Given the description of an element on the screen output the (x, y) to click on. 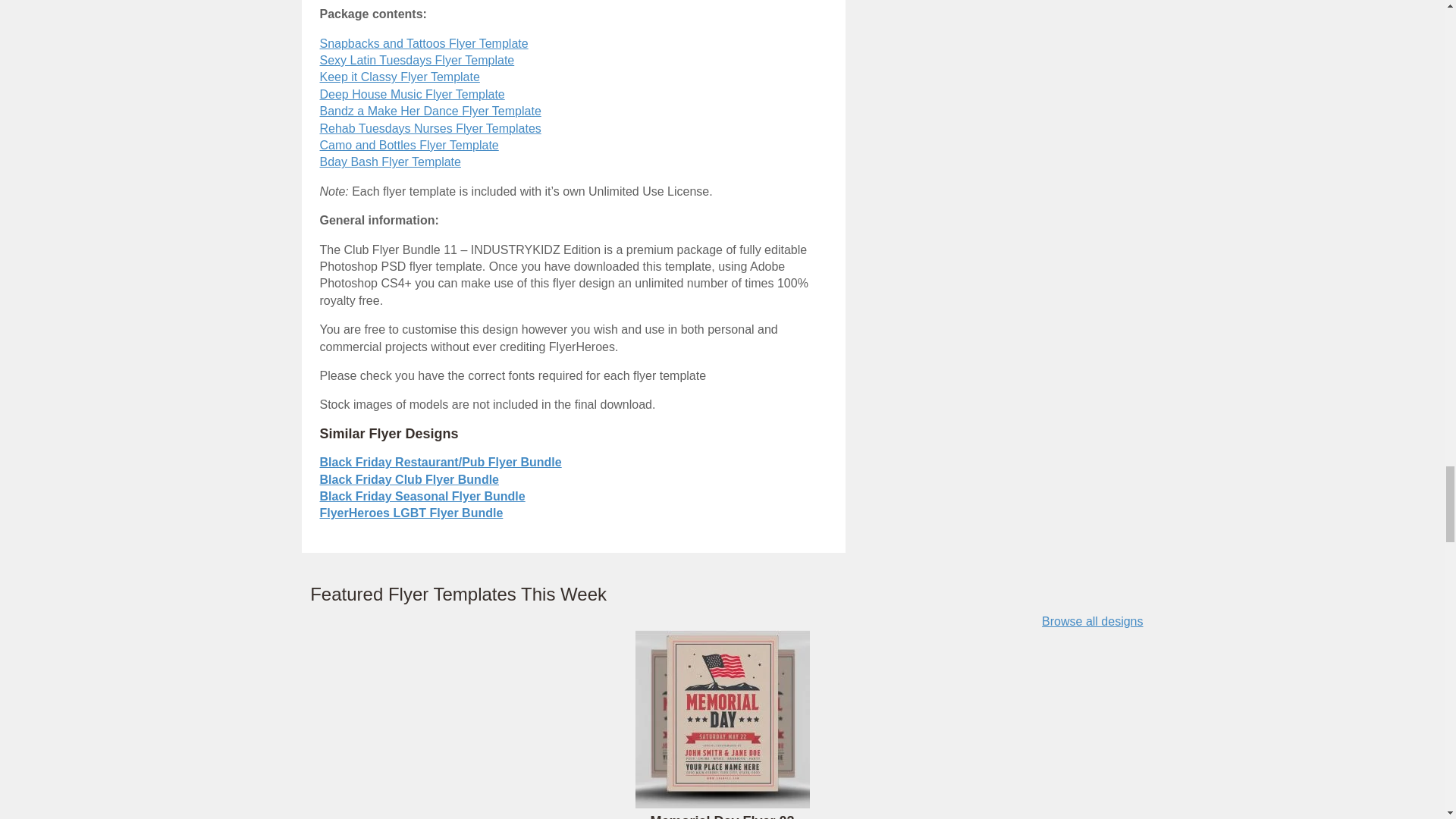
FlyerHeroes LGBT Flyer Bundle (411, 512)
Camo (409, 144)
Keep (400, 76)
Rehab (430, 128)
Black Friday Seasonal Flyer Bundle (422, 495)
Bandz (430, 110)
Bday (390, 161)
Sexy (417, 60)
Black Friday Club Flyer Bundle (409, 479)
Snapbacks (424, 42)
Deep (412, 93)
